Given the description of an element on the screen output the (x, y) to click on. 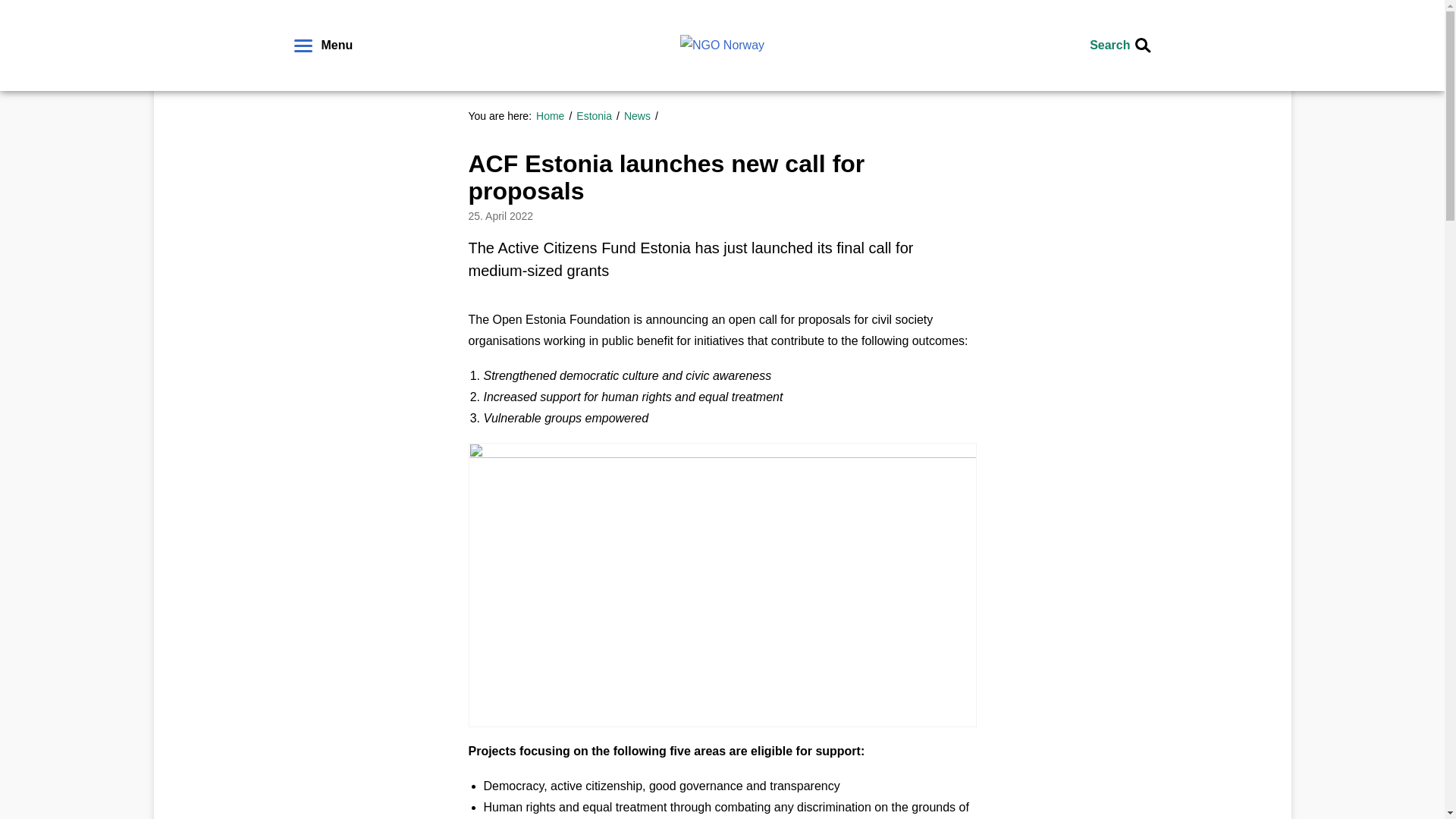
News (641, 115)
Search (1119, 45)
Menu (323, 45)
Estonia (598, 115)
Home (553, 115)
